Given the description of an element on the screen output the (x, y) to click on. 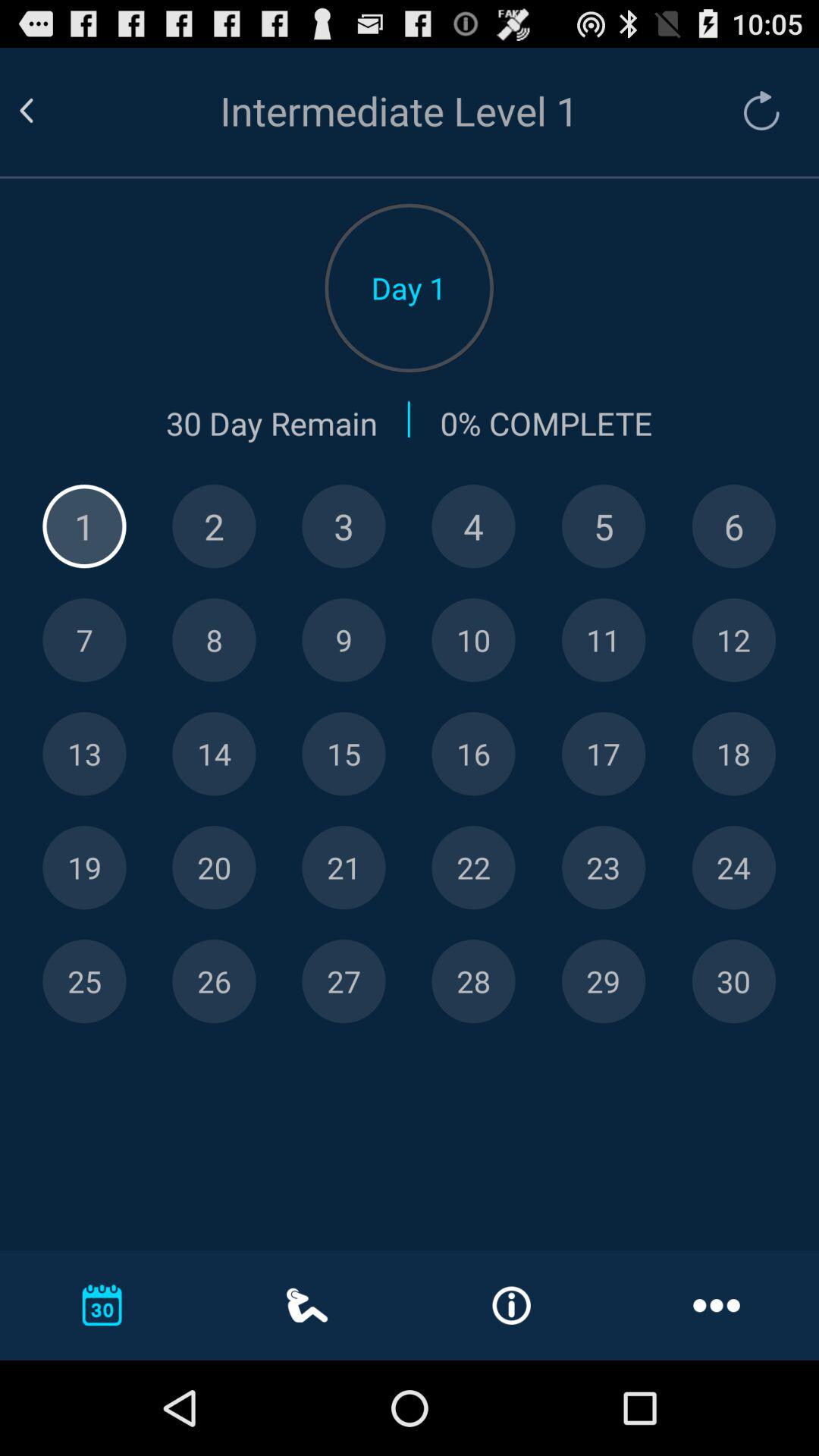
este o numero 10 (473, 639)
